Given the description of an element on the screen output the (x, y) to click on. 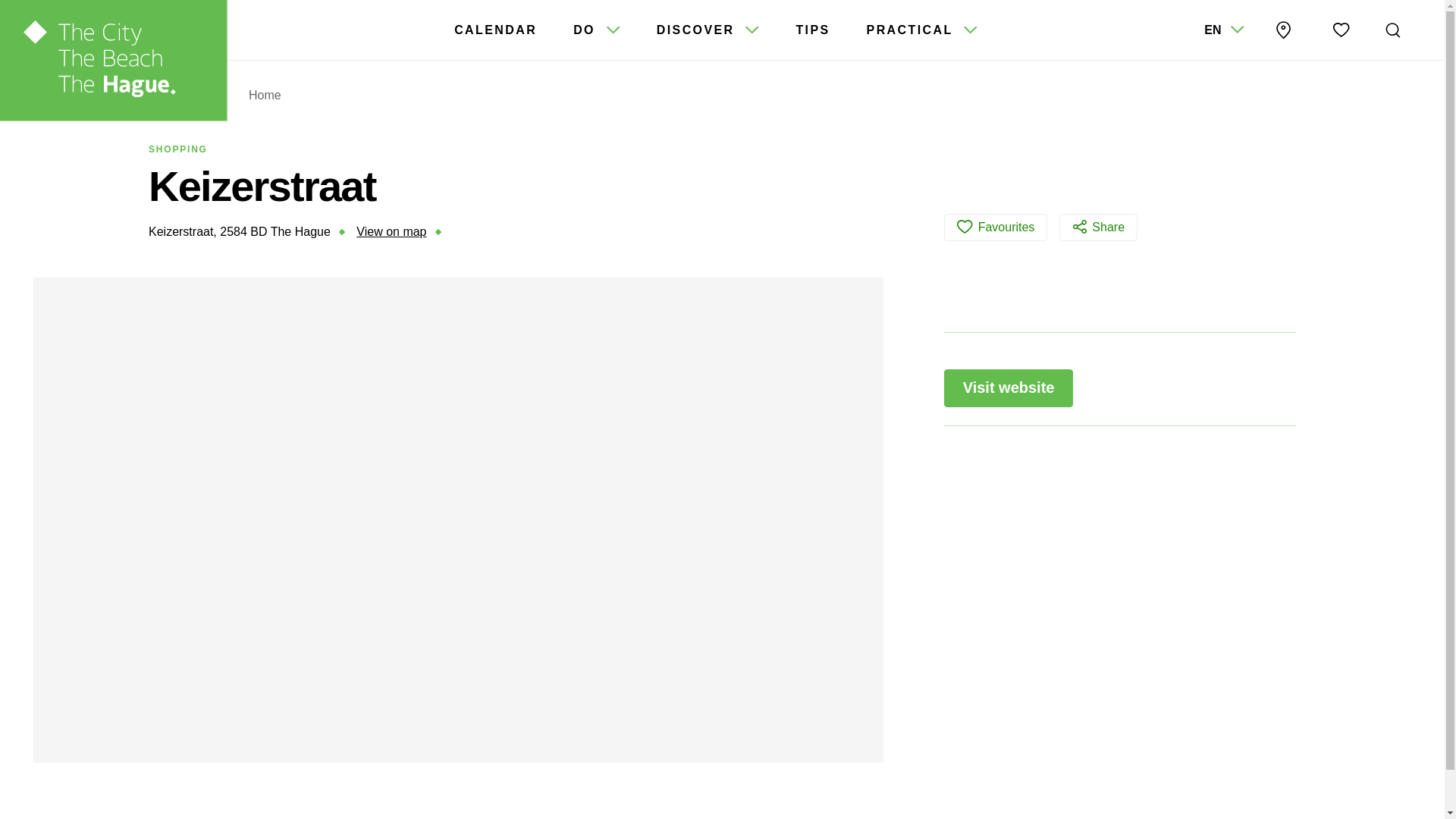
PRACTICAL (922, 30)
CALENDAR (495, 30)
TIPS (811, 30)
DO (596, 30)
DISCOVER (708, 30)
View on map (391, 231)
